Given the description of an element on the screen output the (x, y) to click on. 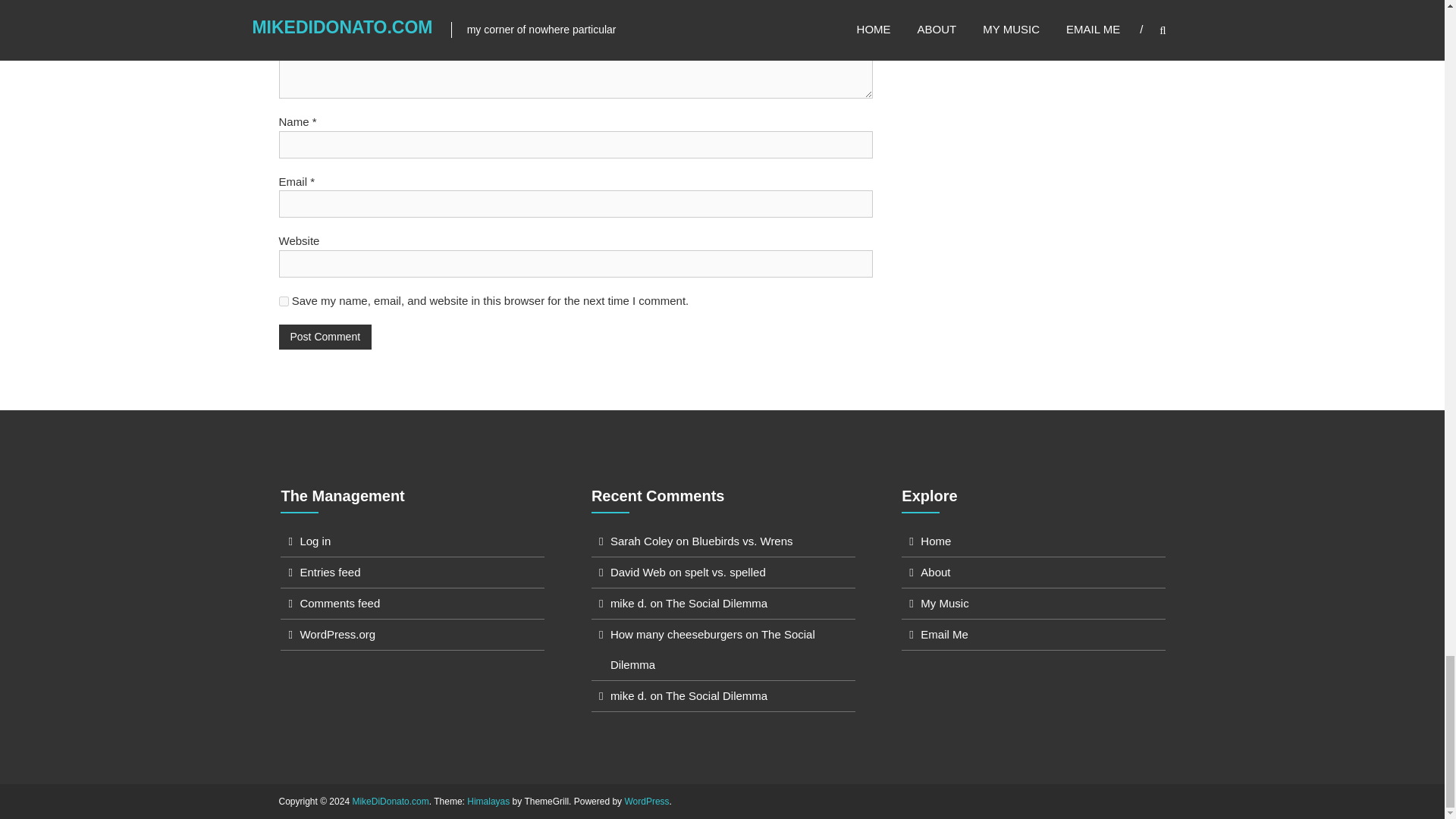
yes (283, 301)
Himalayas (488, 801)
WordPress (646, 801)
Post Comment (325, 336)
David Web (637, 571)
Comments feed (339, 603)
WordPress.org (337, 634)
Entries feed (329, 571)
MikeDiDonato.com (390, 801)
Log in (314, 540)
